Given the description of an element on the screen output the (x, y) to click on. 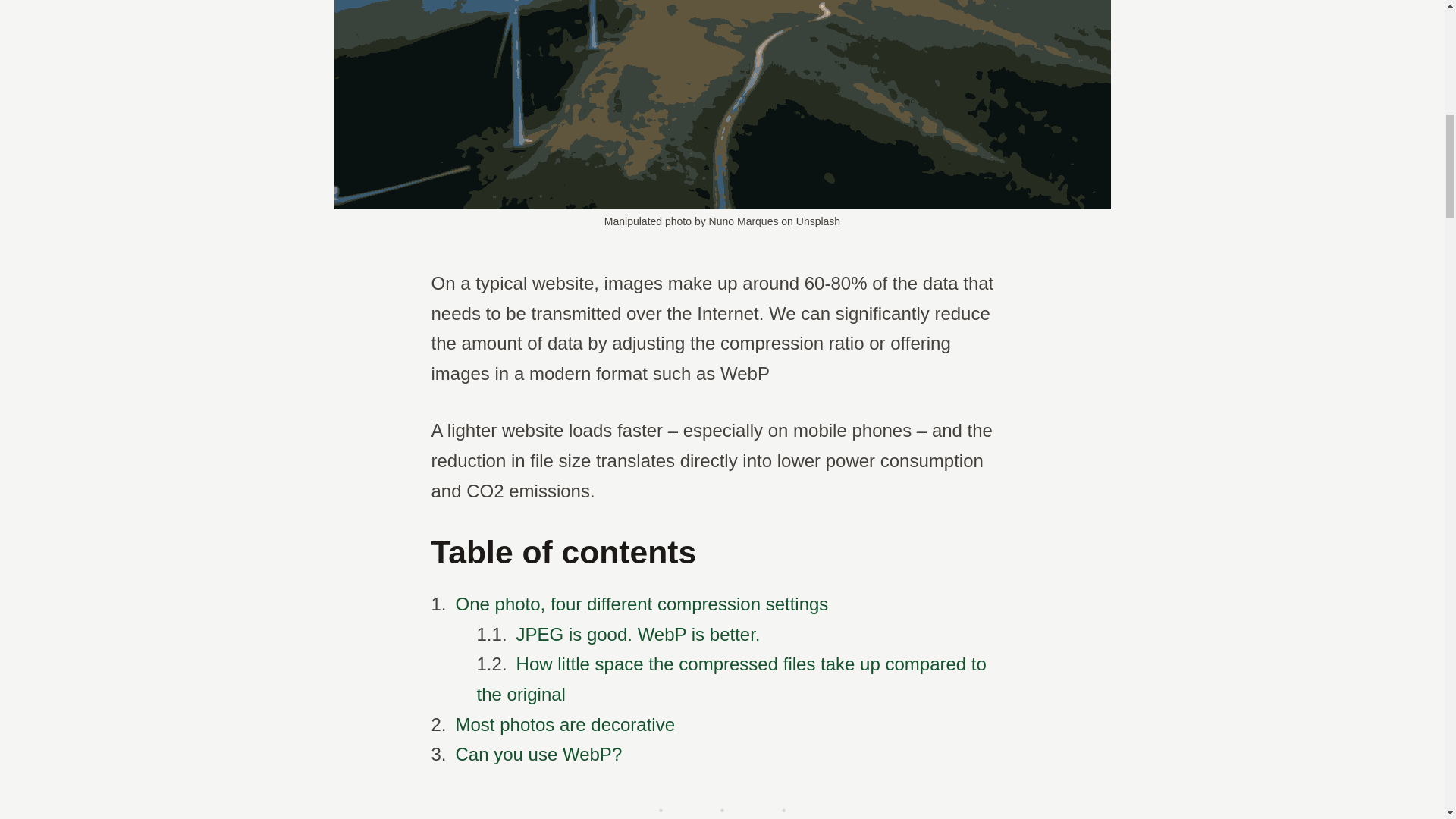
Can you use WebP? (539, 753)
JPEG is good. WebP is better. (638, 634)
One photo, four different compression settings (641, 603)
Most photos are decorative (565, 724)
